Given the description of an element on the screen output the (x, y) to click on. 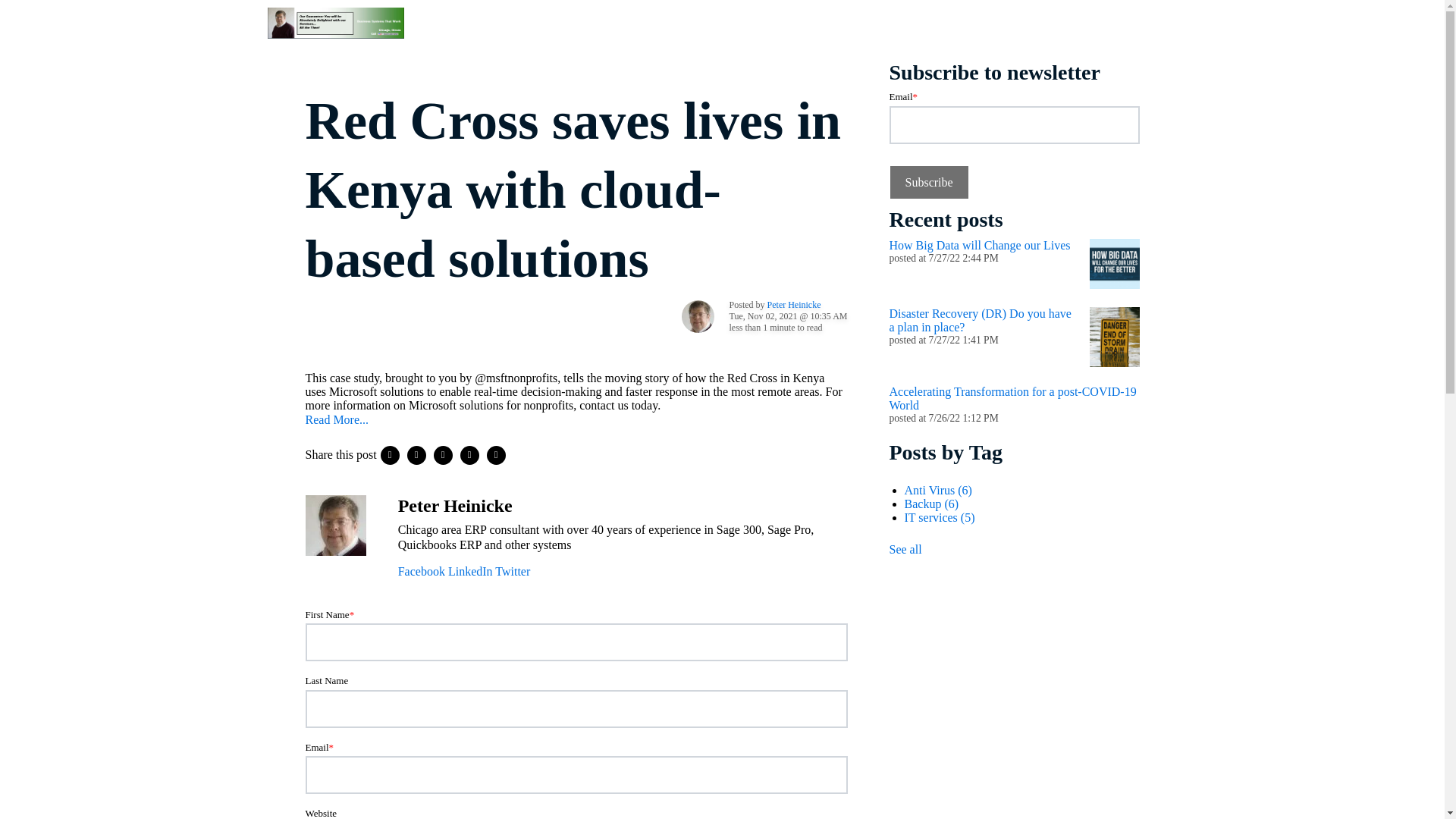
Peter Heinicke (794, 304)
Business Systems That Work (334, 22)
How Big Data will Change our Lives (979, 245)
Facebook (421, 571)
Accelerating Transformation for a post-COVID-19 World (1011, 397)
LinkedIn (470, 571)
Subscribe (928, 182)
Read More... (336, 419)
Subscribe (928, 182)
Twitter (512, 571)
Peter Heinicke (454, 505)
